Given the description of an element on the screen output the (x, y) to click on. 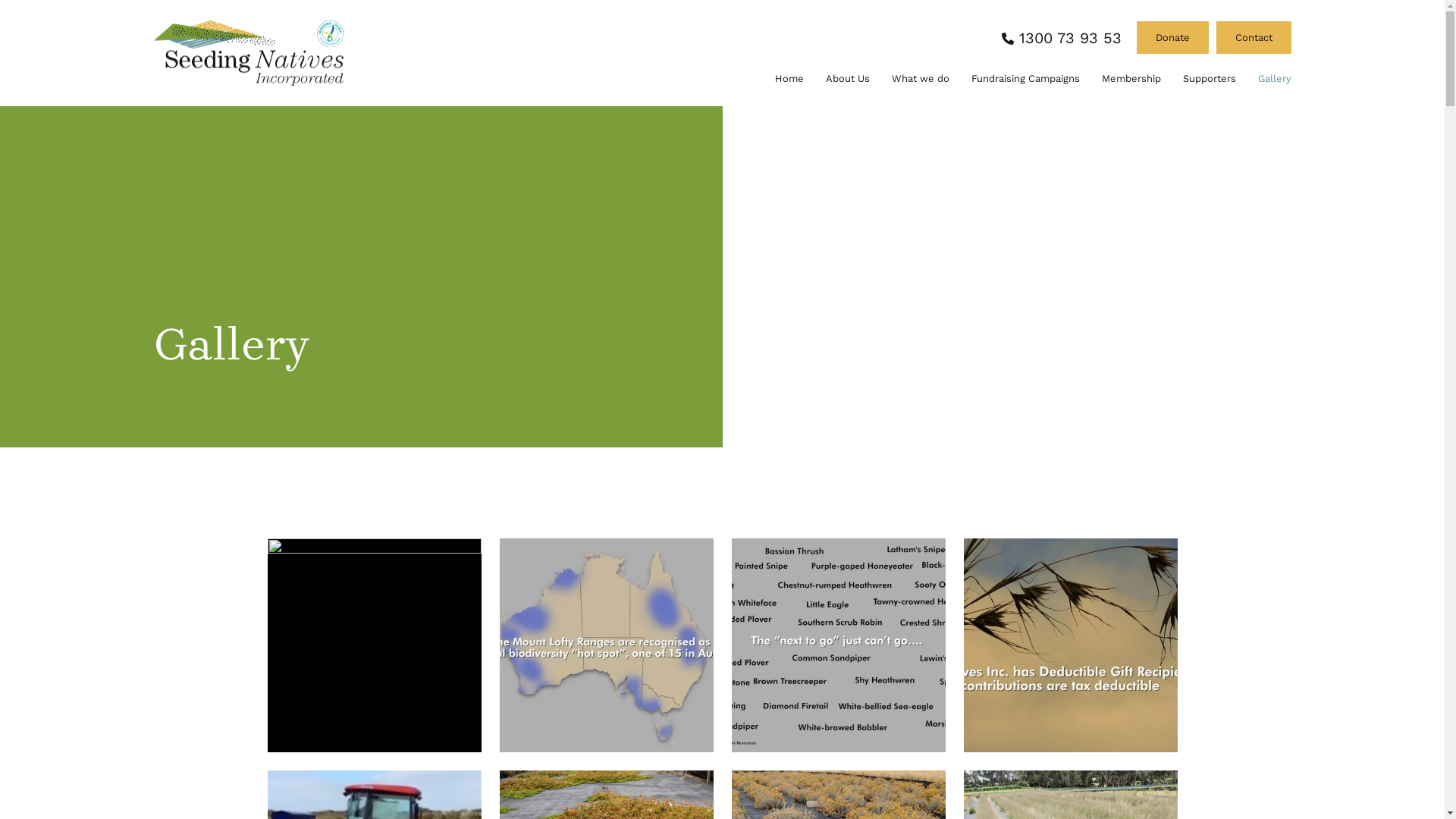
Home Element type: text (789, 78)
About Us Element type: text (847, 78)
Gallery Element type: text (1273, 78)
Membership Element type: text (1130, 78)
Contact Element type: text (1253, 37)
Fundraising Campaigns Element type: text (1024, 78)
Supporters Element type: text (1209, 78)
What we do Element type: text (920, 78)
Donate Element type: text (1172, 37)
1300 73 93 53 Element type: text (1061, 37)
